Given the description of an element on the screen output the (x, y) to click on. 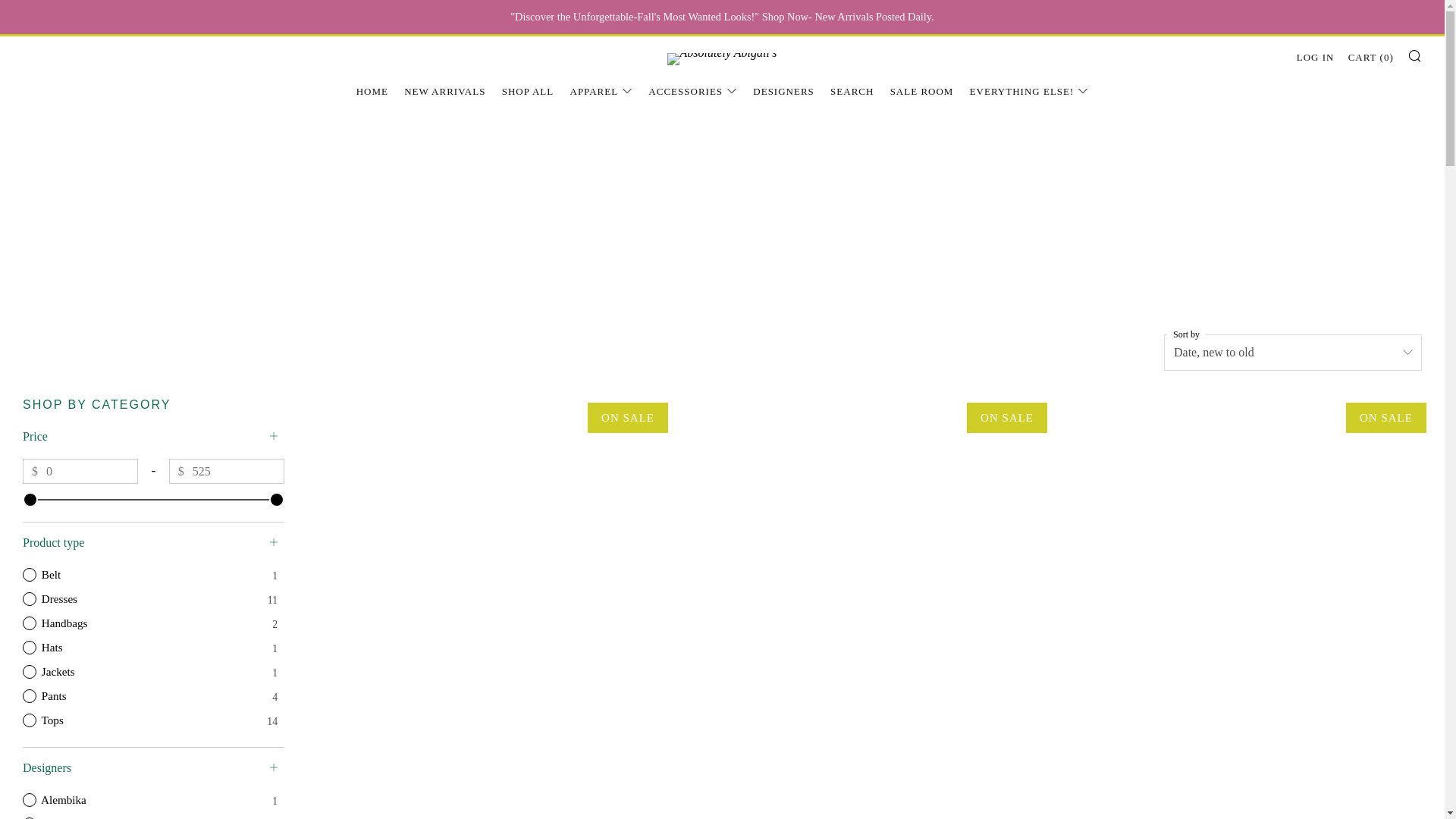
NEW ARRIVALS (444, 91)
